Given the description of an element on the screen output the (x, y) to click on. 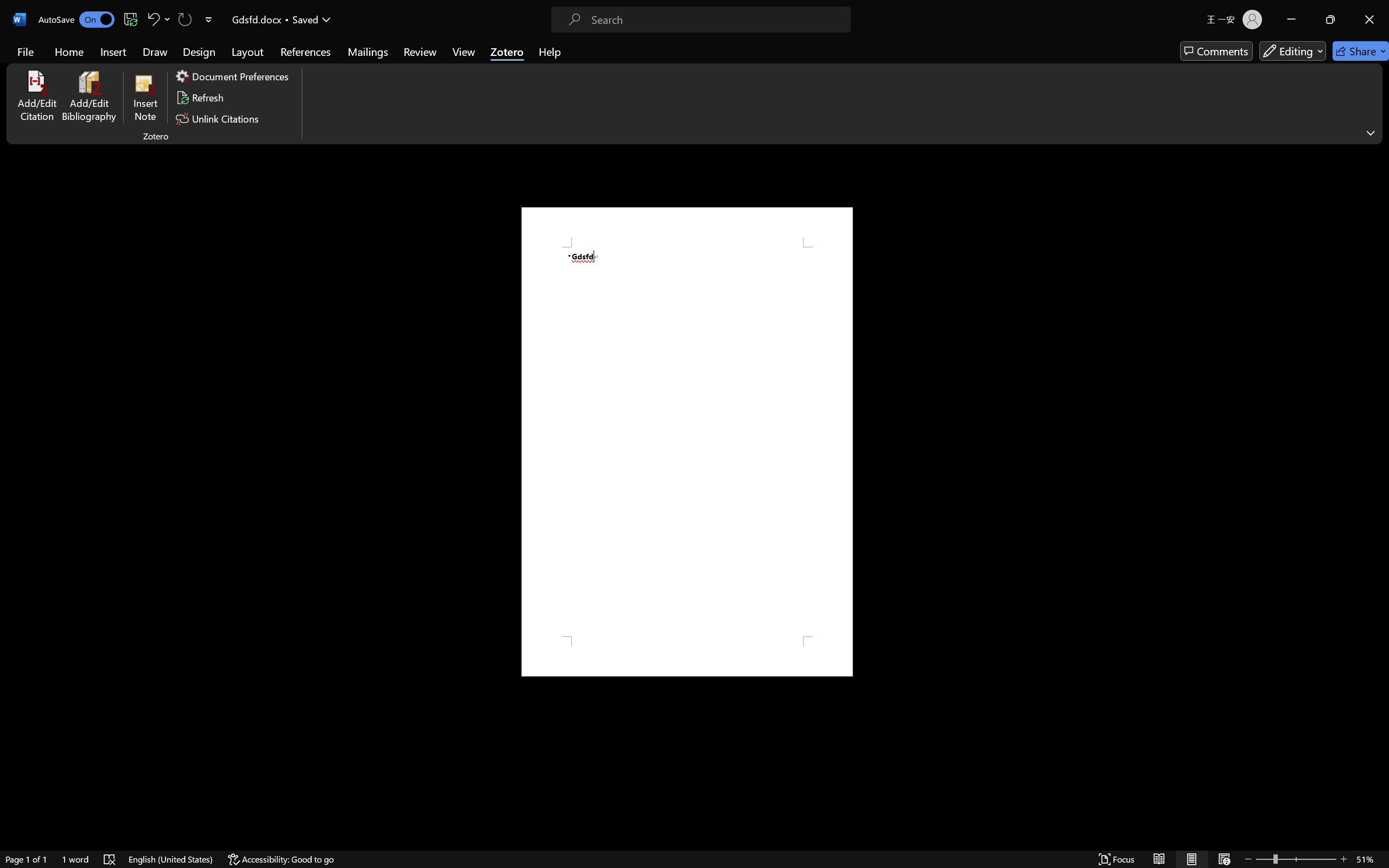
Page 1 content (686, 441)
